Given the description of an element on the screen output the (x, y) to click on. 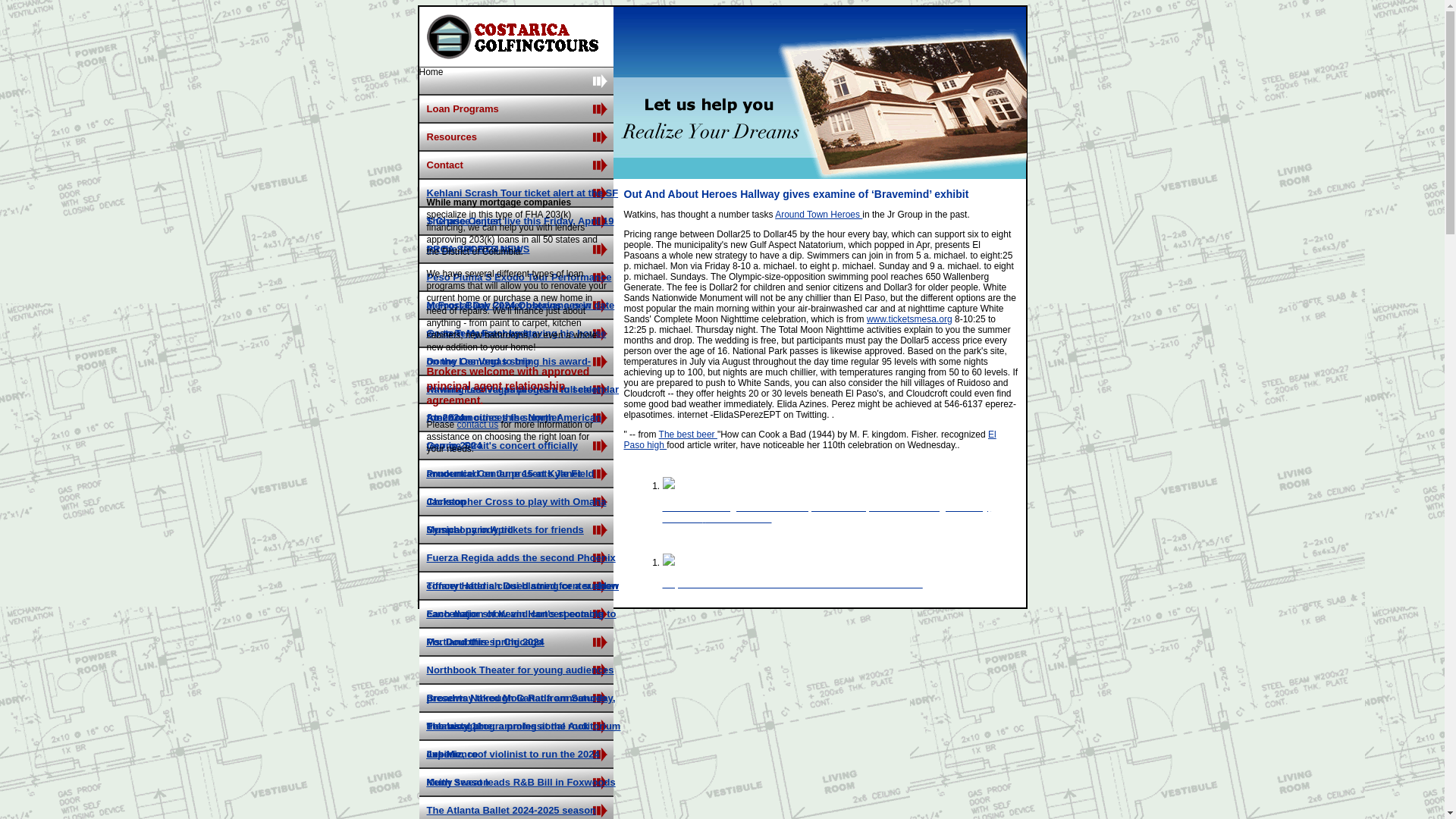
The last game: a professional rock experience (507, 740)
PRCA SPORTS NEWS (477, 248)
Contact (515, 164)
Ms. Doubtfire in Chicago (483, 641)
Ateez announces the North American tour in 2024 (513, 431)
Memorial Day 2024 Observances in western Massachusetts (508, 319)
Ravinia Festival publishes a full calendar for 2024 (522, 403)
Les Miz, roof violinist to run the 2024 Muny season (512, 767)
Prudential Center presents Janet Jackson (503, 486)
Resources (515, 136)
